Given the description of an element on the screen output the (x, y) to click on. 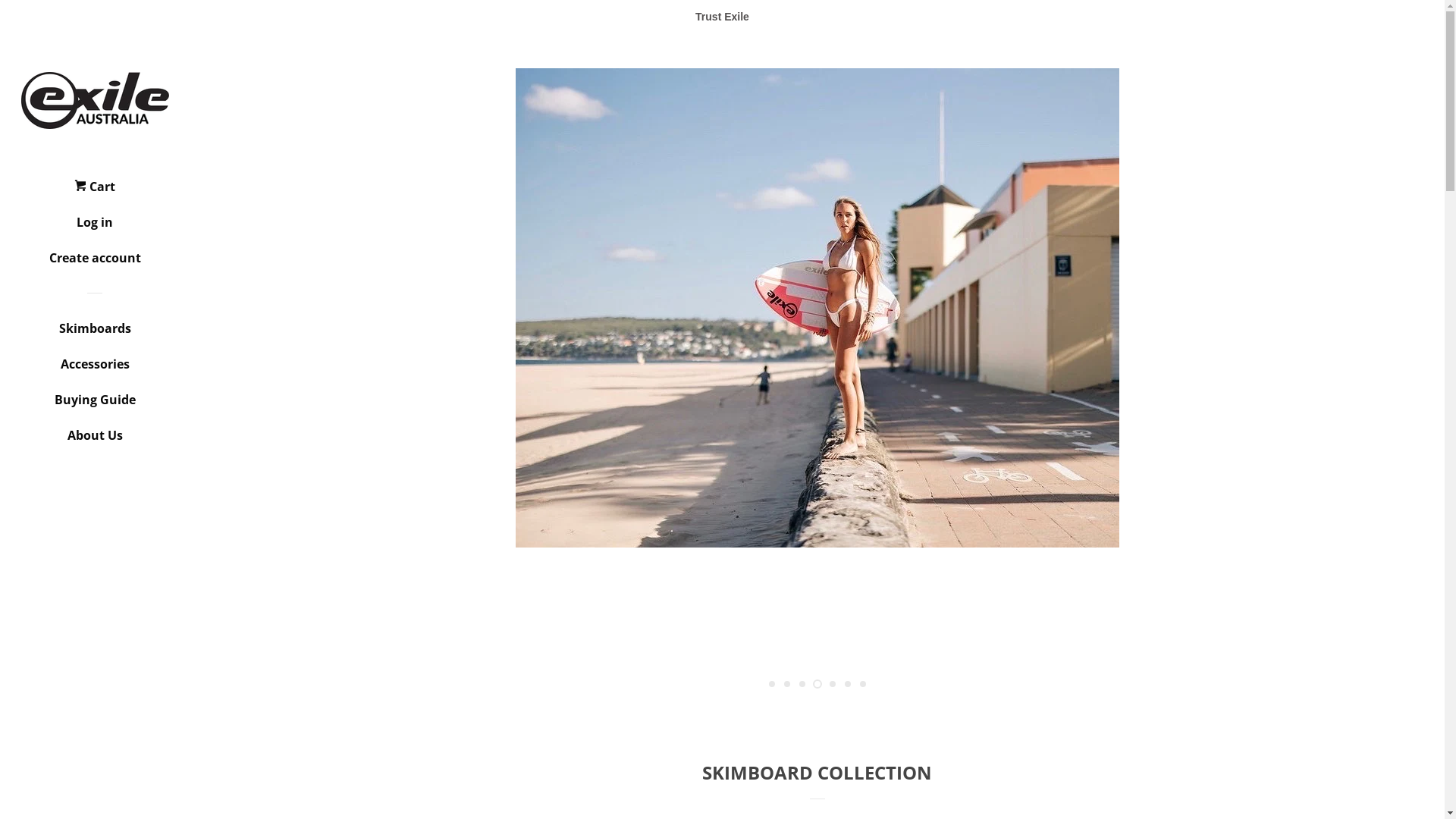
Accessories Element type: text (94, 369)
4 Element type: text (817, 683)
Buying Guide Element type: text (94, 405)
5 Element type: text (832, 683)
Skimboards Element type: text (94, 333)
Trust Exile Element type: text (722, 16)
3 Element type: text (801, 683)
Cart Element type: text (94, 192)
Log in Element type: text (94, 227)
2 Element type: text (786, 683)
About Us Element type: text (94, 440)
Create account Element type: text (94, 263)
1 Element type: text (771, 683)
Close Element type: text (1394, 100)
7 Element type: text (862, 683)
6 Element type: text (847, 683)
